Given the description of an element on the screen output the (x, y) to click on. 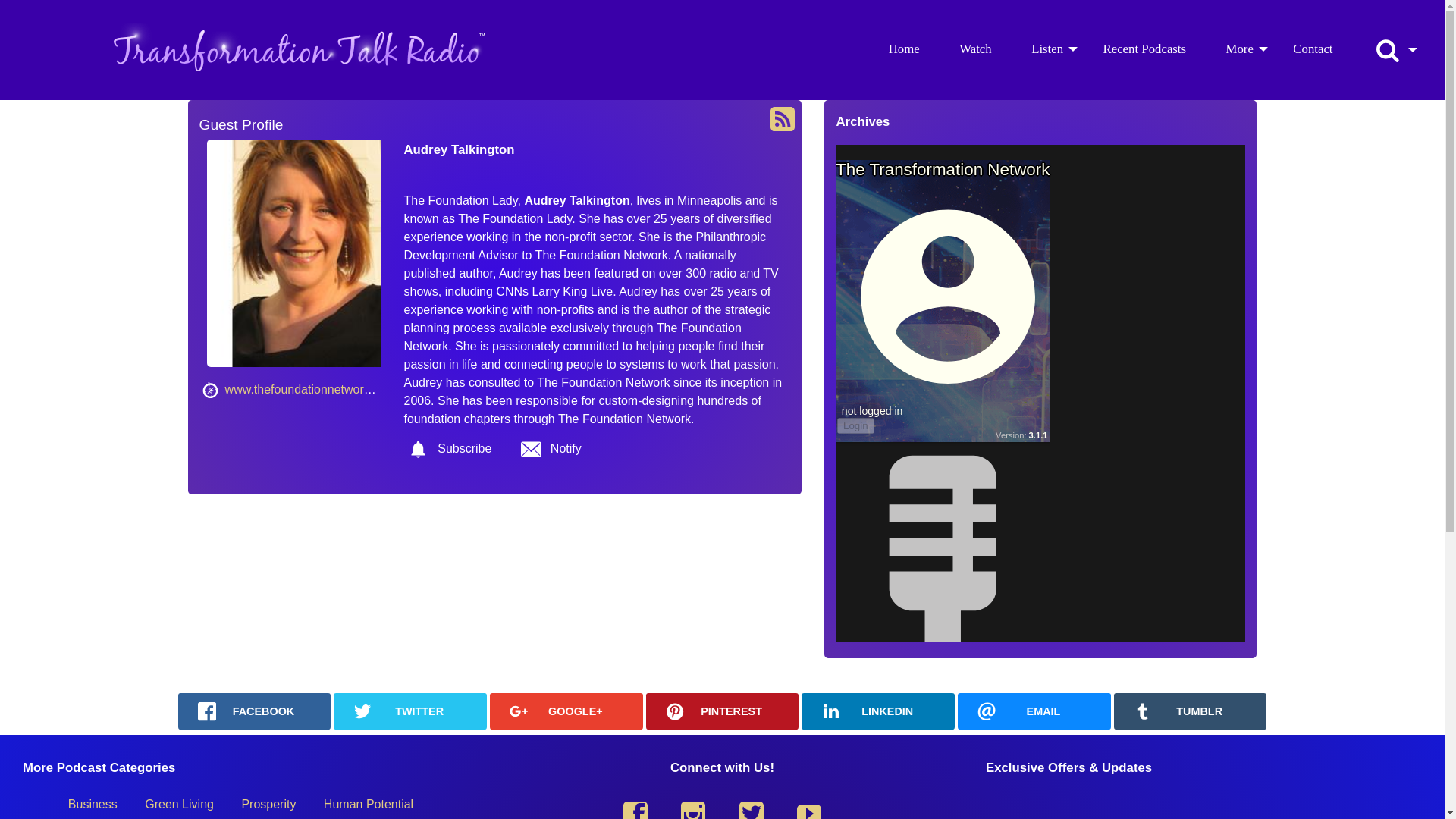
Recent Podcasts (1144, 49)
TUMBLR (1189, 710)
 Notify (551, 449)
EMAIL (1034, 710)
Send me an email message when guest new podcast is available (551, 449)
Home (903, 49)
Prosperity (267, 804)
TWITTER (409, 710)
Contact (1313, 49)
Listen (1047, 49)
Subscribe to RSS Archives (782, 119)
 Subscribe (448, 449)
